Given the description of an element on the screen output the (x, y) to click on. 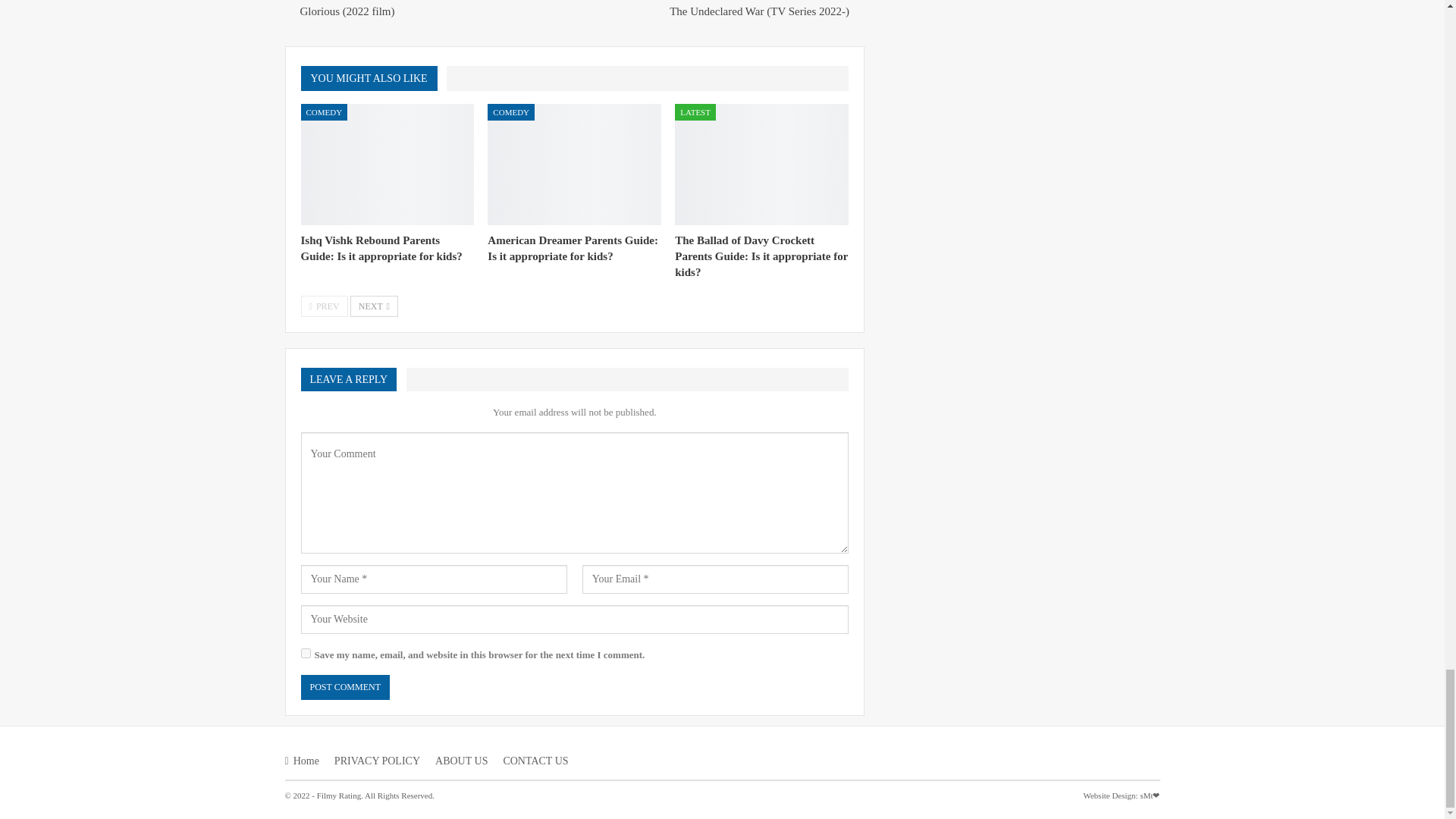
Post Comment (343, 687)
American Dreamer Parents Guide: Is it appropriate for kids? (572, 248)
Next (373, 305)
Previous (323, 305)
American Dreamer Parents Guide: Is it appropriate for kids? (574, 164)
YOU MIGHT ALSO LIKE (372, 77)
yes (304, 653)
